Given the description of an element on the screen output the (x, y) to click on. 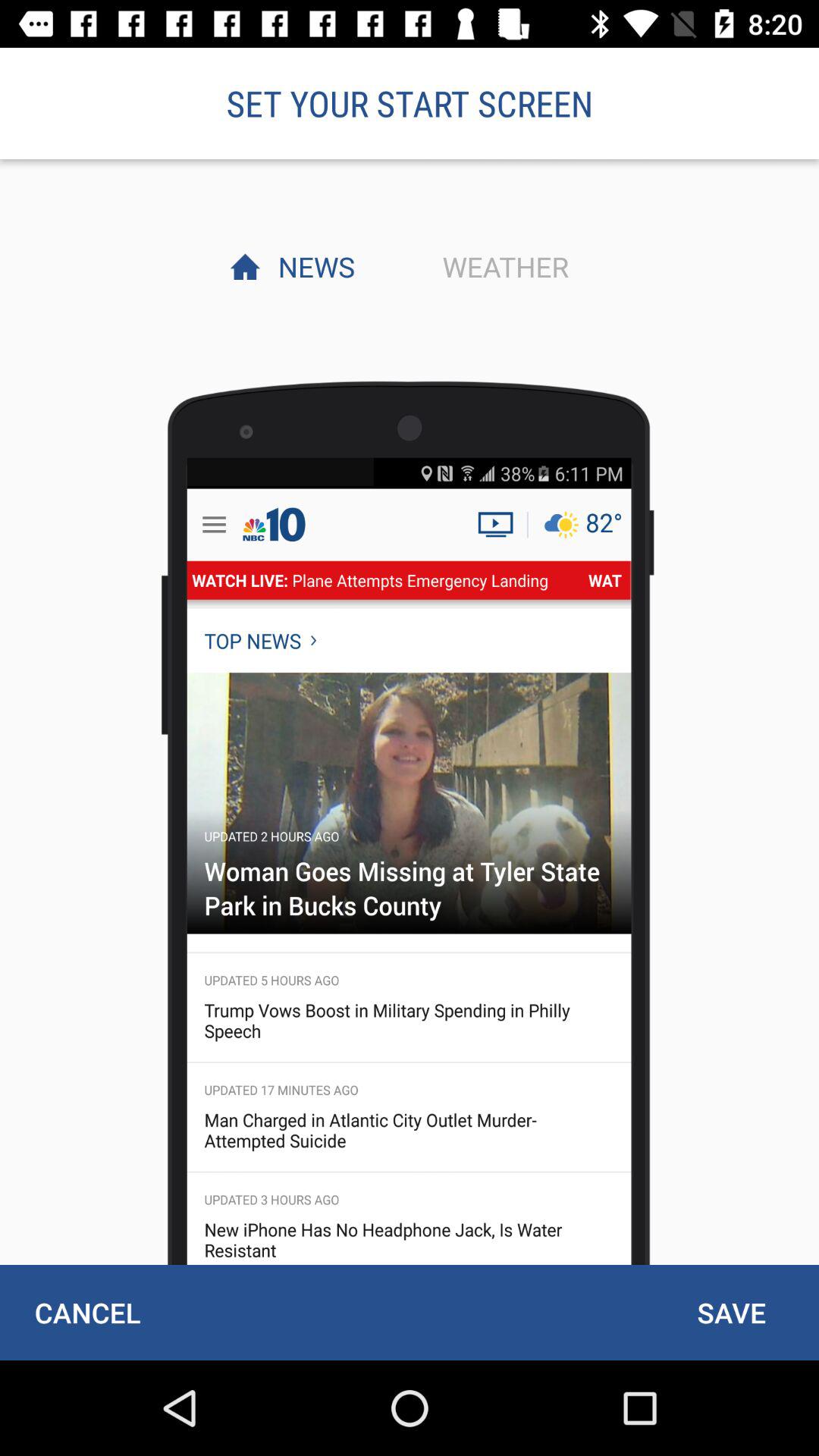
swipe until the cancel item (87, 1312)
